Given the description of an element on the screen output the (x, y) to click on. 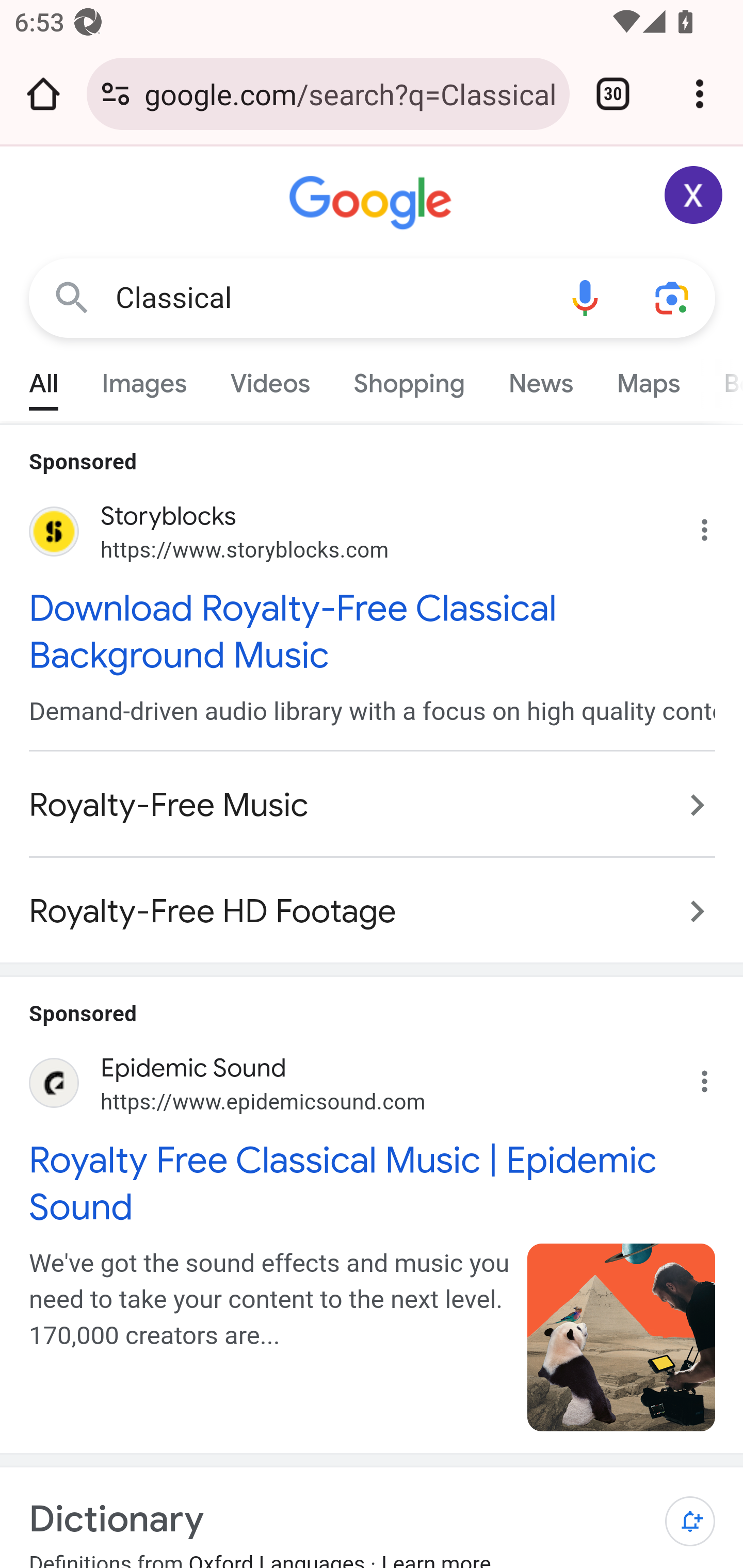
Open the home page (43, 93)
Connection is secure (115, 93)
Switch or close tabs (612, 93)
Customize and control Google Chrome (699, 93)
Google (372, 203)
Google Account: Xiaoran (zxrappiumtest@gmail.com) (694, 195)
Google Search (71, 296)
Search using your camera or photos (672, 296)
Classical (328, 297)
Images (144, 378)
Videos (270, 378)
Shopping (408, 378)
News (540, 378)
Maps (647, 378)
Why this ad? (714, 525)
Download Royalty-Free Classical Background Music (372, 631)
Royalty-Free Music (372, 805)
Royalty-Free HD Footage (372, 901)
Why this ad? (714, 1076)
Royalty Free Classical Music | Epidemic Sound (372, 1181)
Image from epidemicsound.com (621, 1337)
Get notifications about Word of the day (690, 1521)
